Given the description of an element on the screen output the (x, y) to click on. 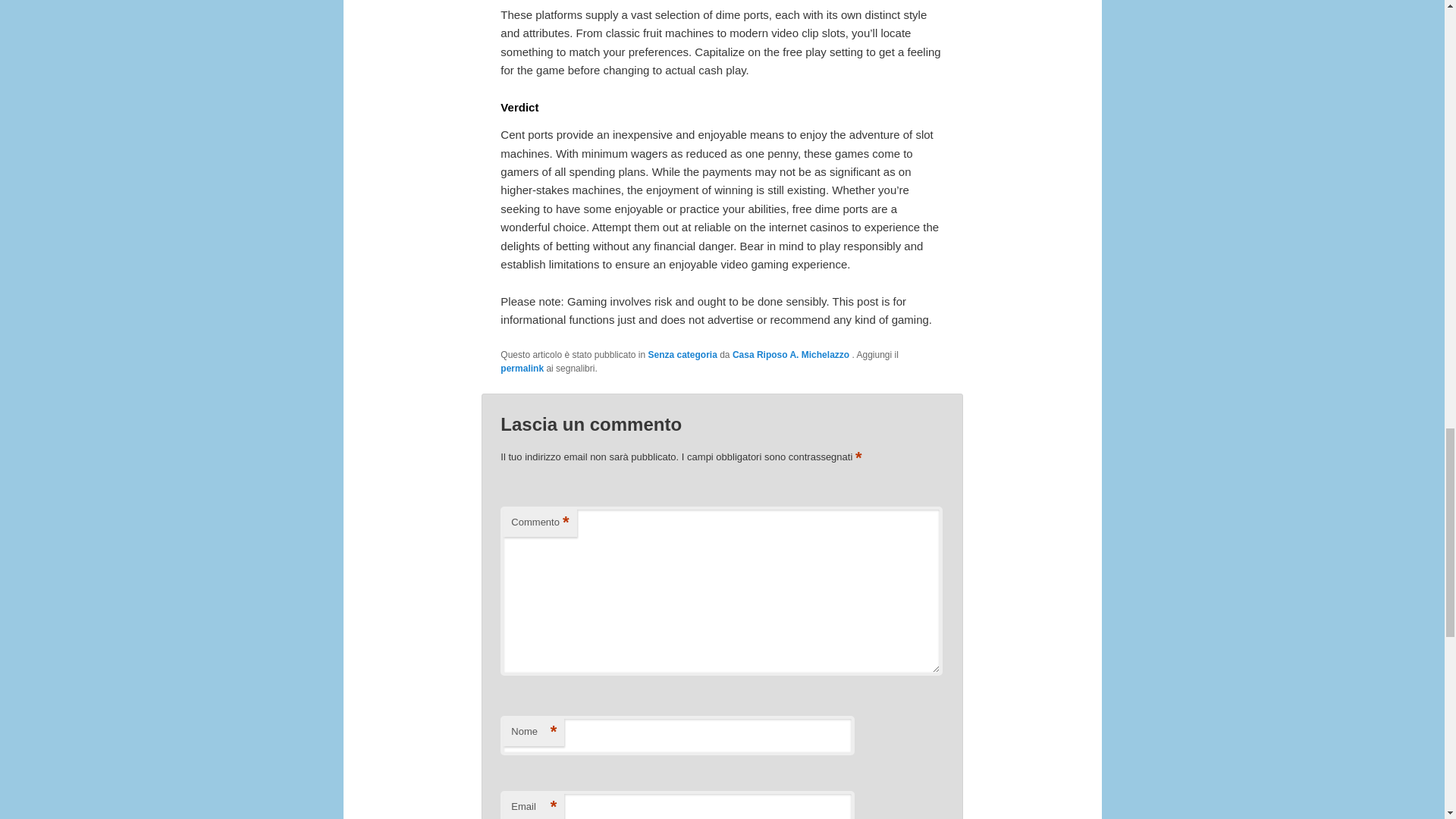
Casa Riposo A. Michelazzo (791, 354)
permalink (521, 368)
Senza categoria (681, 354)
